Given the description of an element on the screen output the (x, y) to click on. 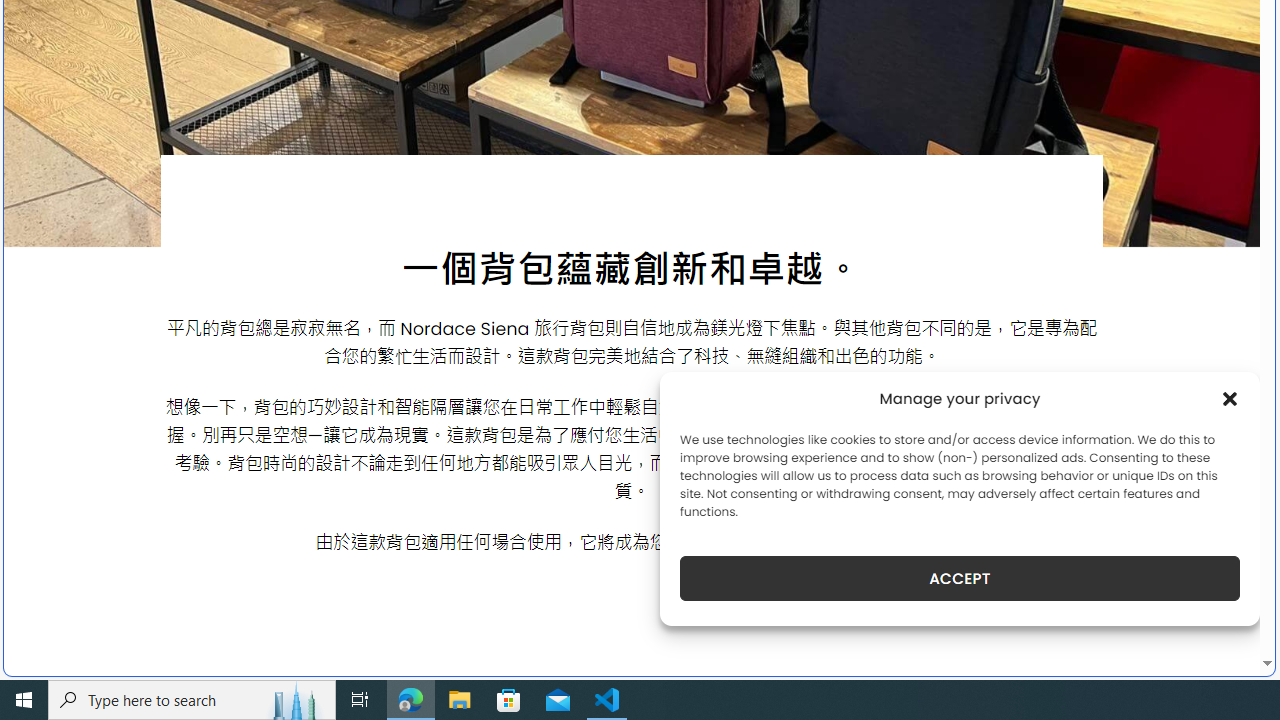
ACCEPT (959, 578)
Class: cmplz-close (1229, 398)
